Given the description of an element on the screen output the (x, y) to click on. 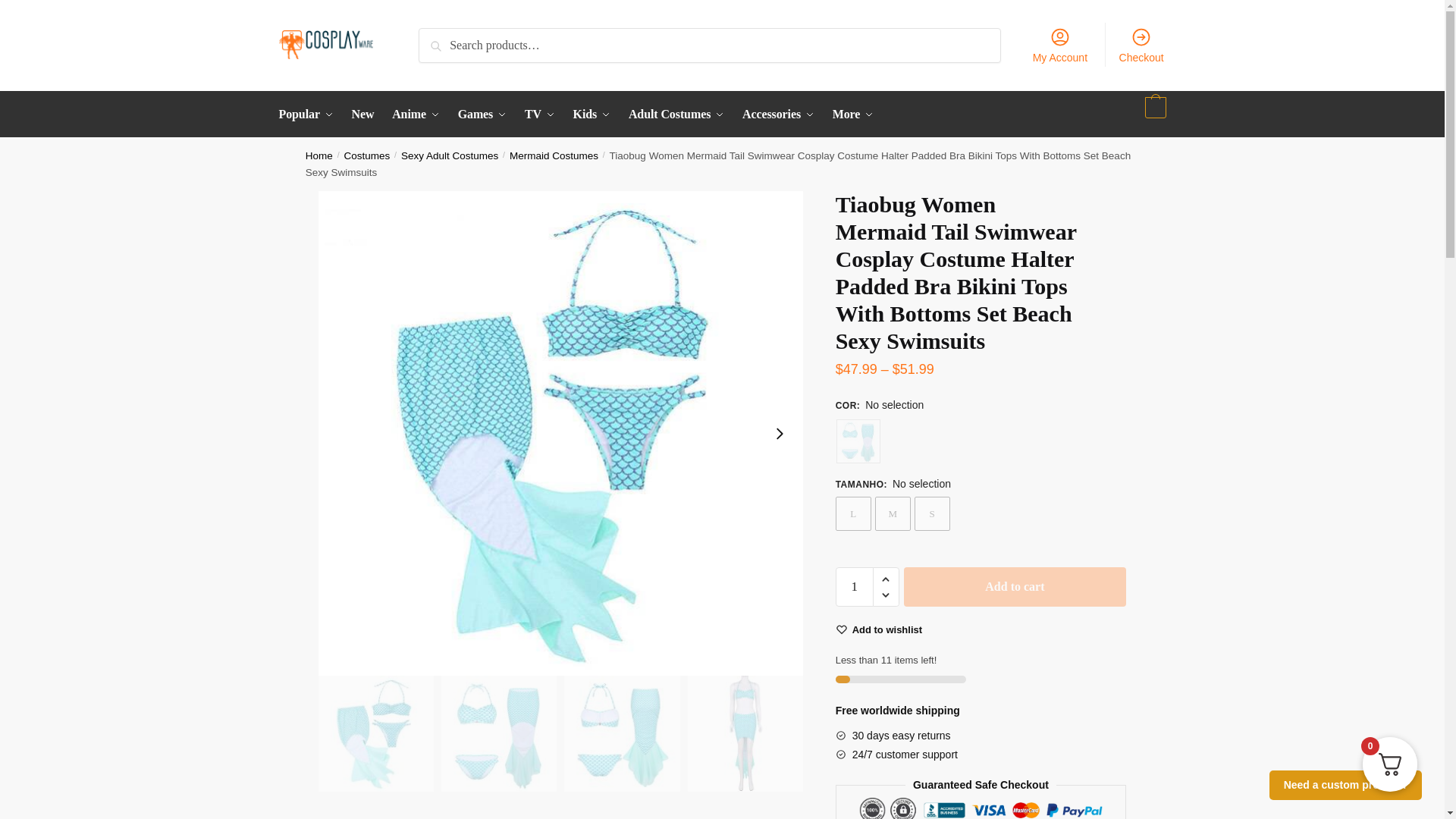
New (363, 114)
Popular (309, 114)
Checkout (1141, 44)
Anime (415, 114)
View your shopping cart (1153, 114)
1 (854, 586)
My Account (1059, 44)
Search (443, 40)
